Given the description of an element on the screen output the (x, y) to click on. 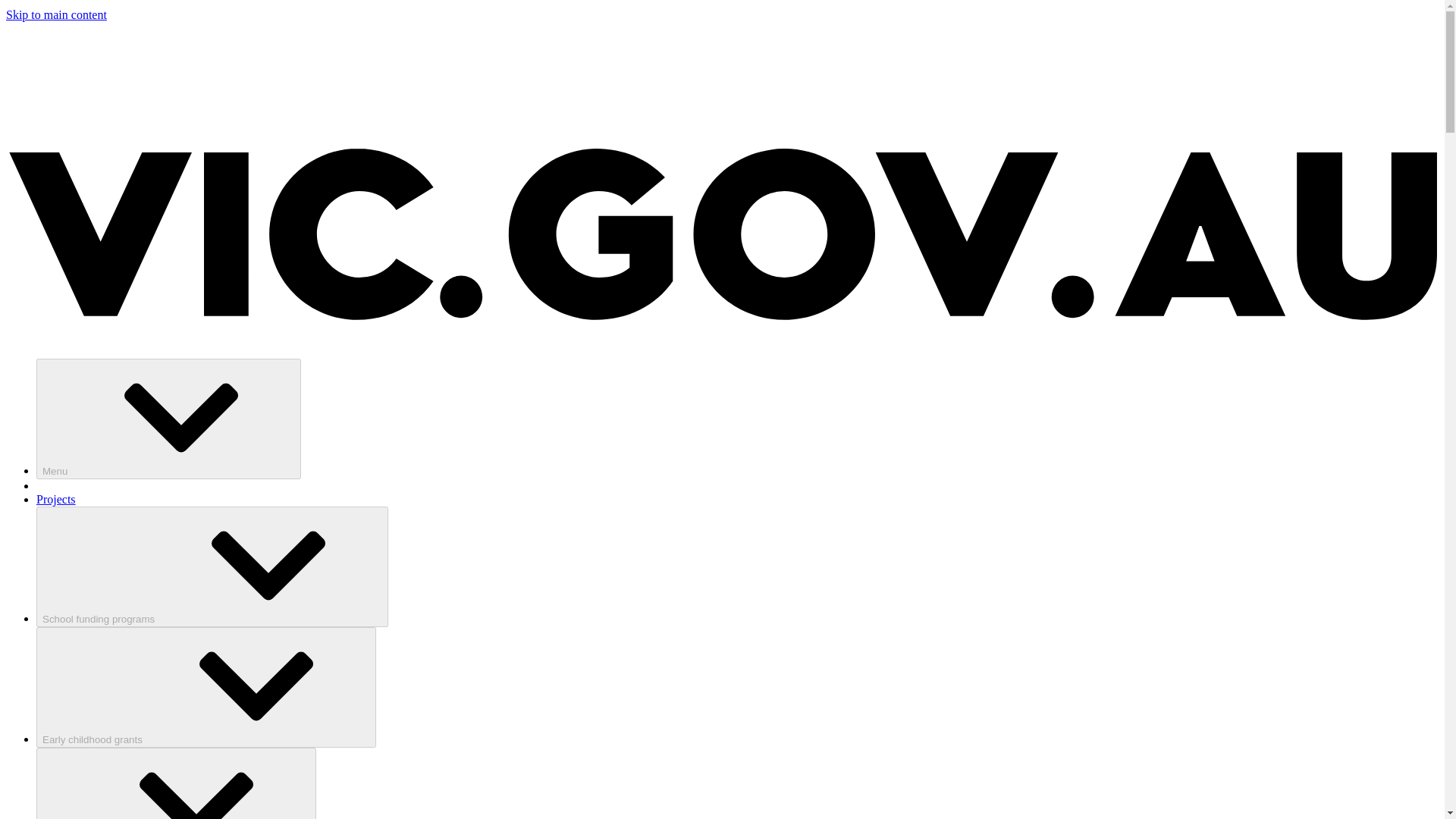
Skip to main content (55, 14)
